Given the description of an element on the screen output the (x, y) to click on. 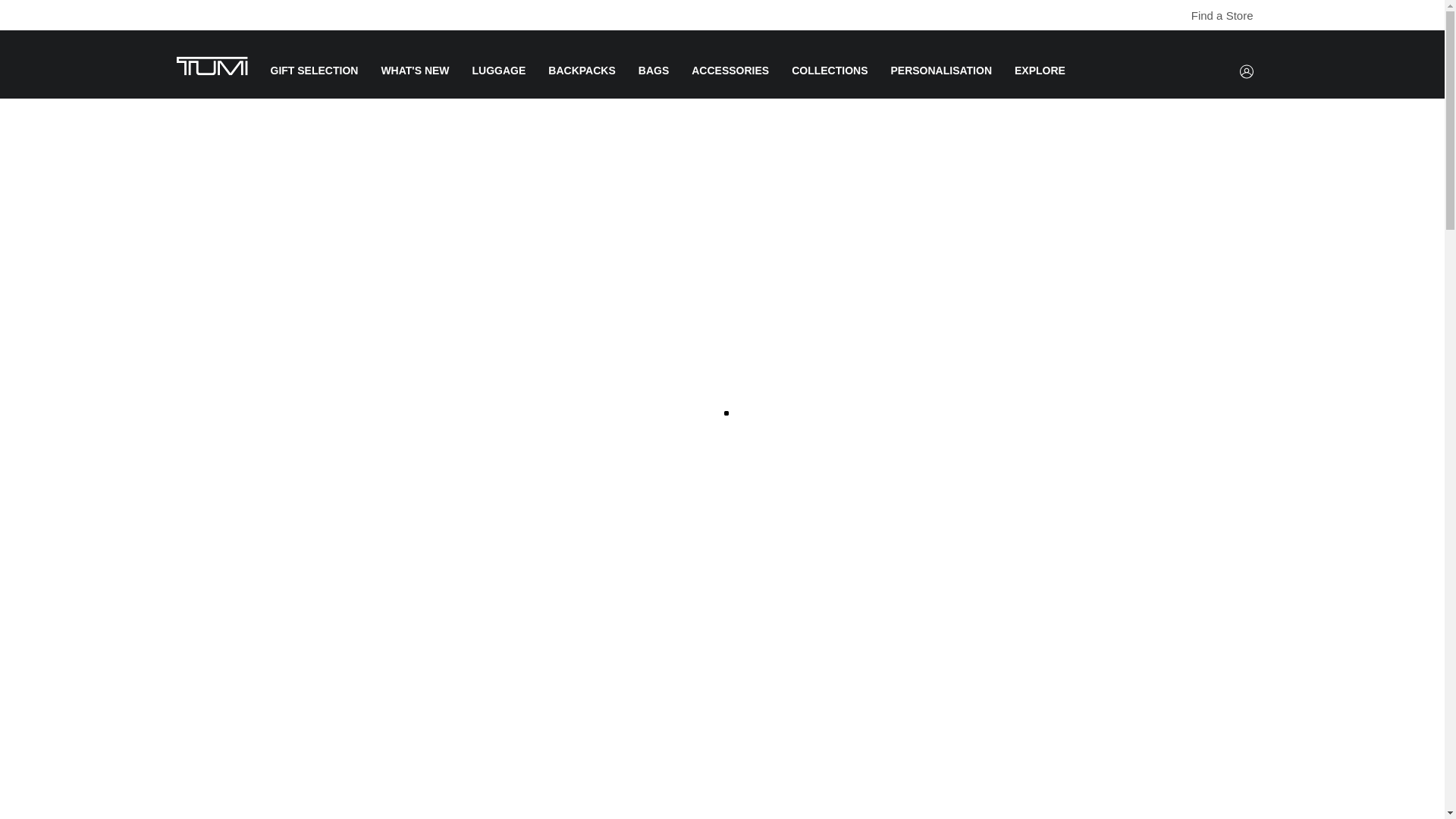
GIFT SELECTION (313, 81)
WHAT'S NEW (414, 81)
Find a Store (1213, 15)
Find a Store (1181, 15)
LUGGAGE (498, 81)
BACKPACKS (581, 81)
